Given the description of an element on the screen output the (x, y) to click on. 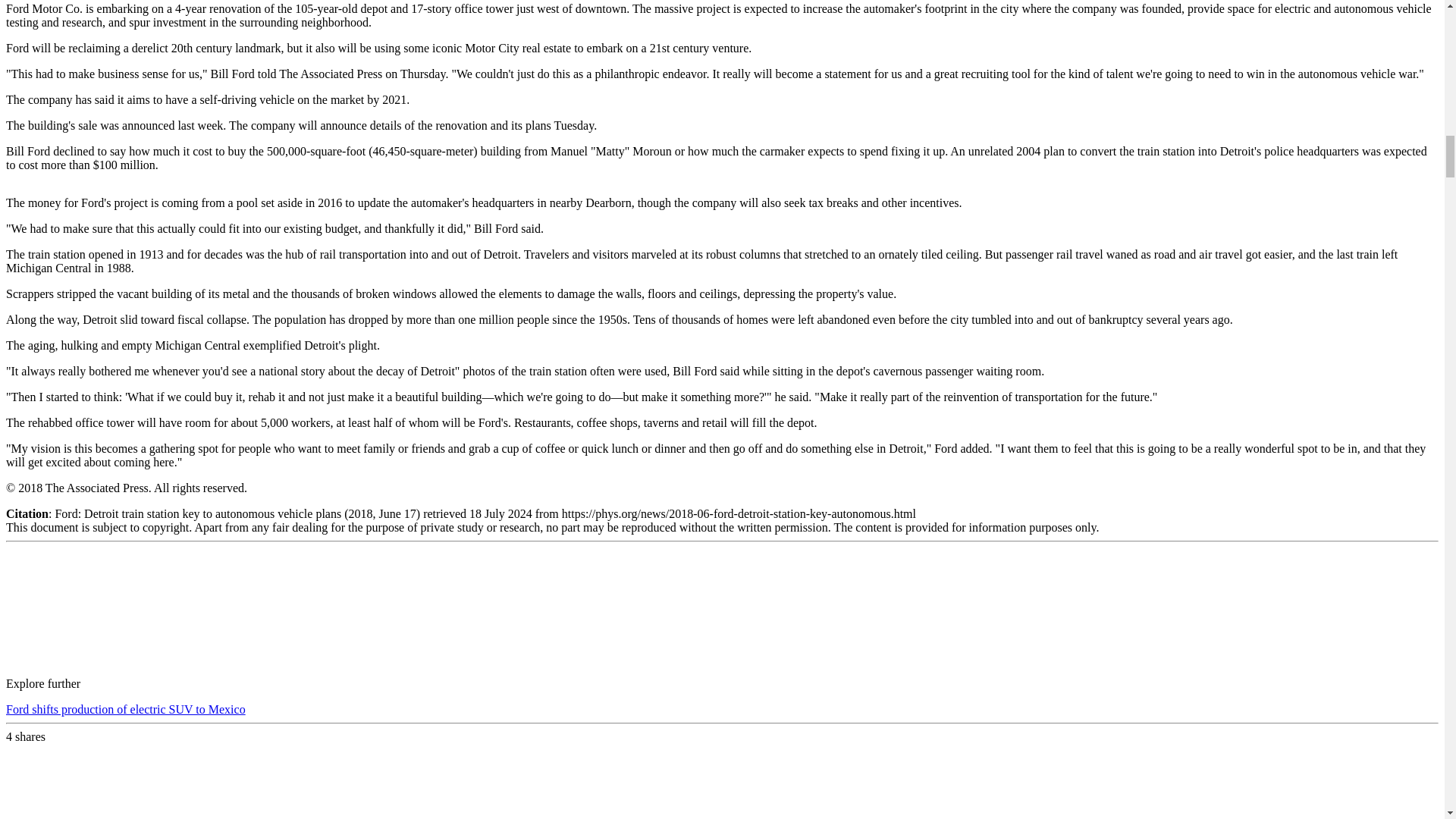
Ford shifts production of electric SUV to Mexico (125, 708)
4 shares (25, 736)
